Given the description of an element on the screen output the (x, y) to click on. 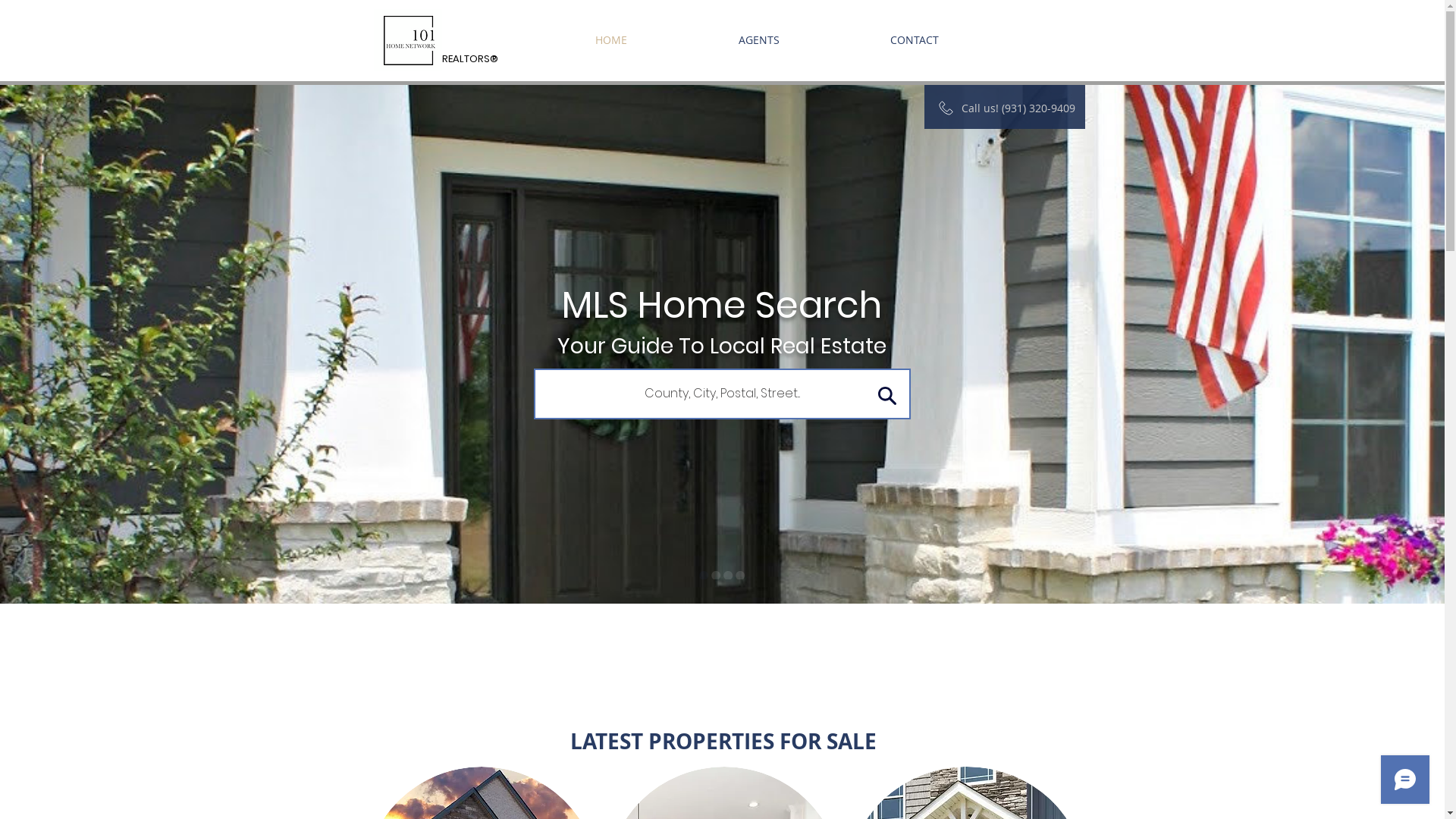
CONTACT Element type: text (913, 39)
AGENTS Element type: text (758, 39)
County, City, Postal, Street... Element type: text (721, 393)
LATEST PROPERTIES FOR SALE Element type: text (723, 741)
HOME Element type: text (611, 39)
